Given the description of an element on the screen output the (x, y) to click on. 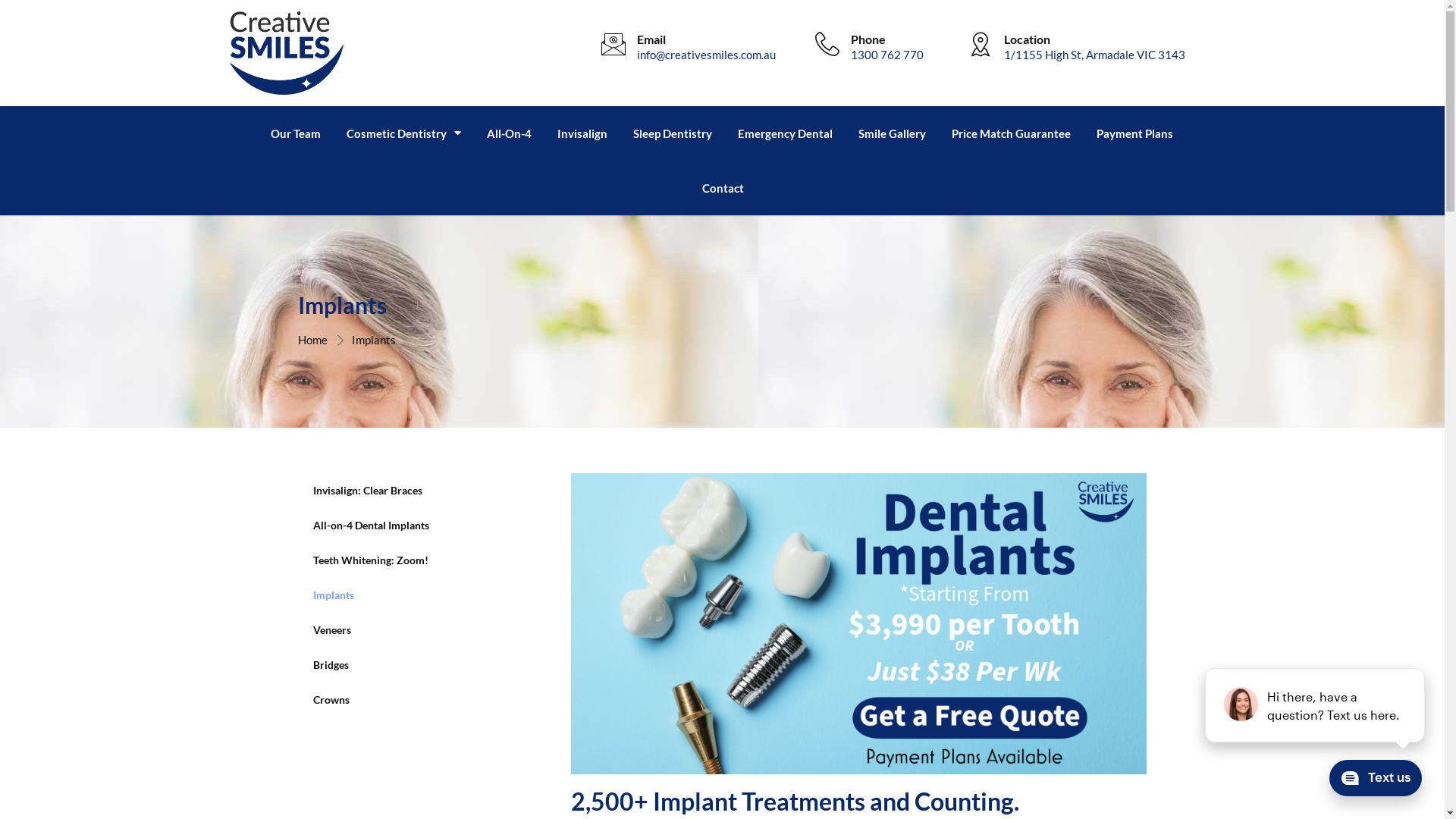
Our Team Element type: text (295, 133)
Location
1/1155 High St, Armadale VIC 3143 Element type: text (1091, 52)
Smile Gallery Element type: text (891, 133)
Crowns Element type: text (407, 699)
Implants Element type: text (407, 594)
Home Element type: text (311, 339)
Email
info@creativesmiles.com.au Element type: text (708, 52)
Cosmetic Dentistry Element type: text (403, 133)
All-On-4 Element type: text (508, 133)
Implants Element type: text (365, 339)
podium webchat widget prompt Element type: hover (1315, 705)
Phone
1300 762 770 Element type: text (891, 52)
Veneers Element type: text (407, 629)
Price Match Guarantee Element type: text (1011, 133)
Invisalign Element type: text (582, 133)
All-on-4 Dental Implants Element type: text (407, 525)
Bridges Element type: text (407, 664)
Invisalign: Clear Braces Element type: text (407, 490)
Payment Plans Element type: text (1133, 133)
Contact Element type: text (722, 187)
Emergency Dental Element type: text (785, 133)
Teeth Whitening: Zoom! Element type: text (407, 559)
Sleep Dentistry Element type: text (672, 133)
